Given the description of an element on the screen output the (x, y) to click on. 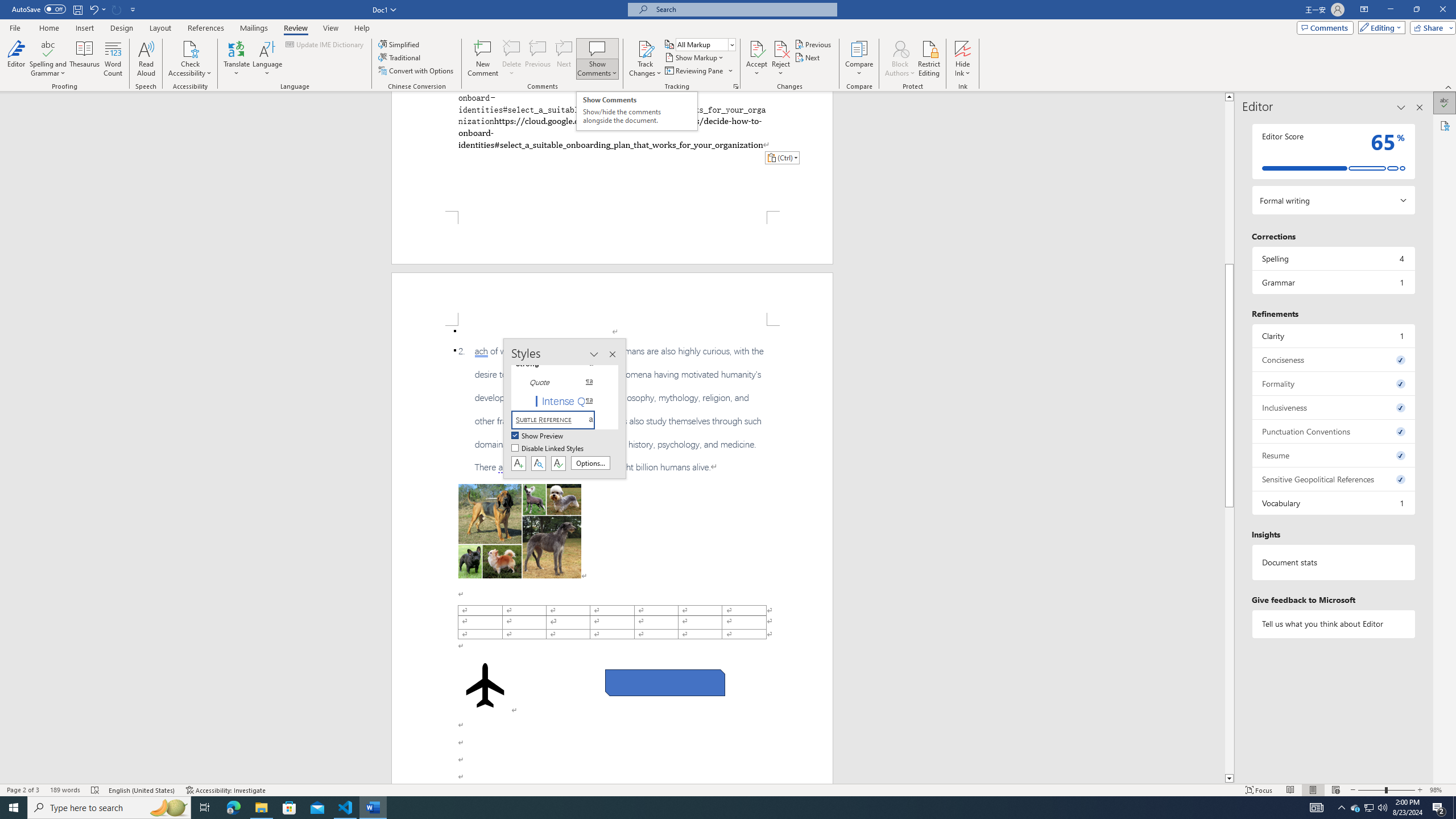
Accessibility (1444, 125)
Reject (780, 58)
Delete (511, 58)
Previous (813, 44)
Undo Paste (92, 9)
Header -Section 1- (611, 298)
Editor Score 65% (1333, 151)
Accept and Move to Next (756, 48)
Block Authors (900, 58)
